Given the description of an element on the screen output the (x, y) to click on. 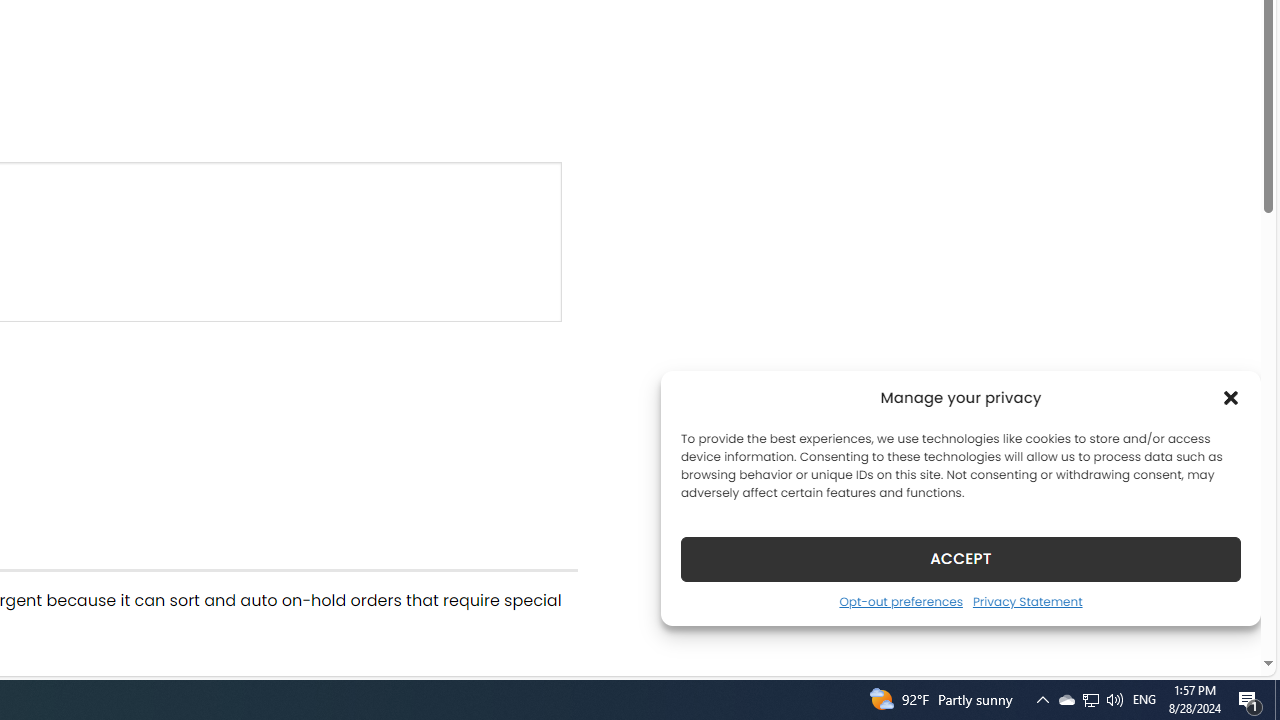
Class: cmplz-close (1231, 397)
Privacy Statement (1026, 601)
ACCEPT (960, 558)
Opt-out preferences (900, 601)
